Given the description of an element on the screen output the (x, y) to click on. 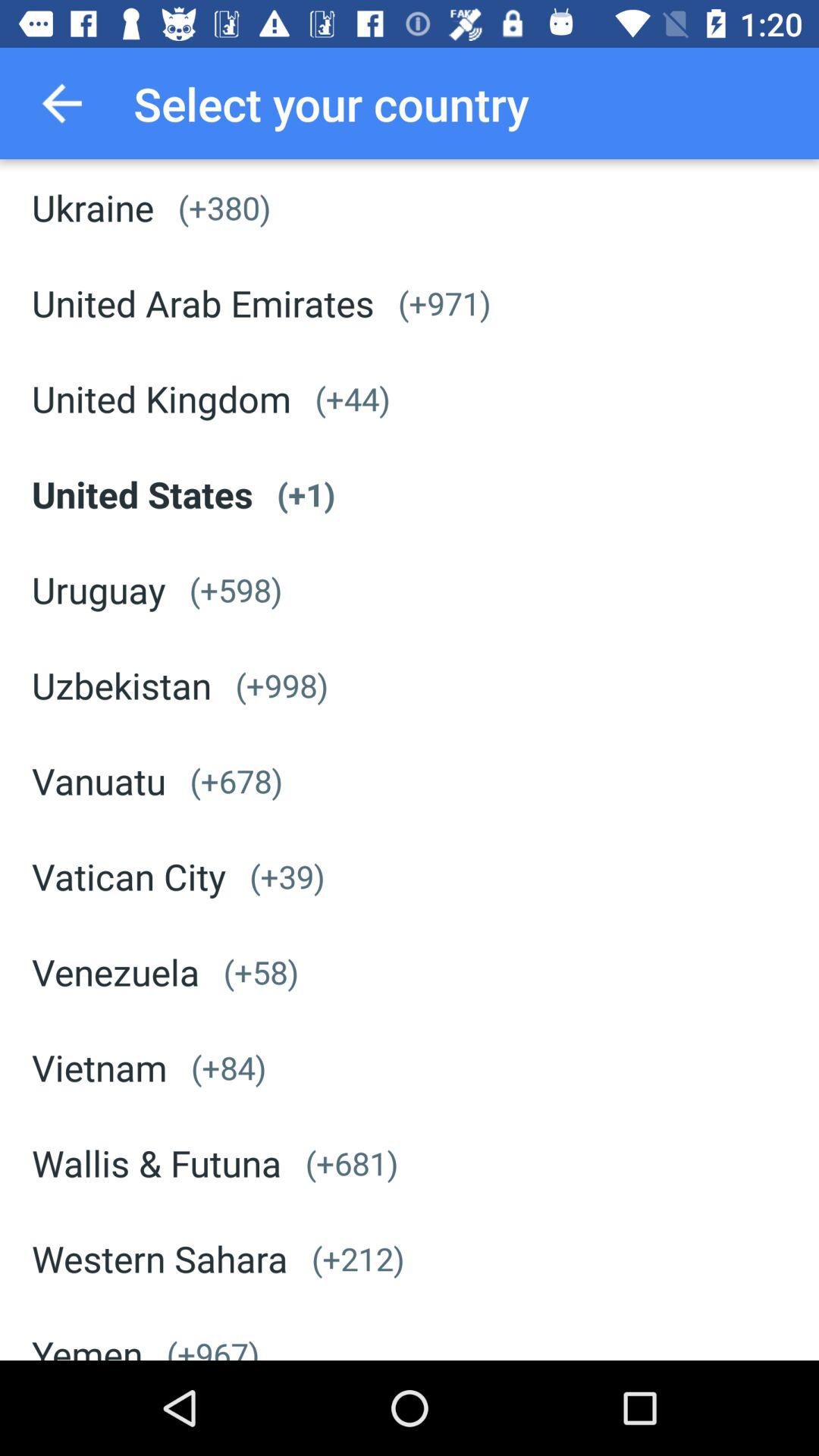
launch the icon next to the (+380) app (92, 207)
